Given the description of an element on the screen output the (x, y) to click on. 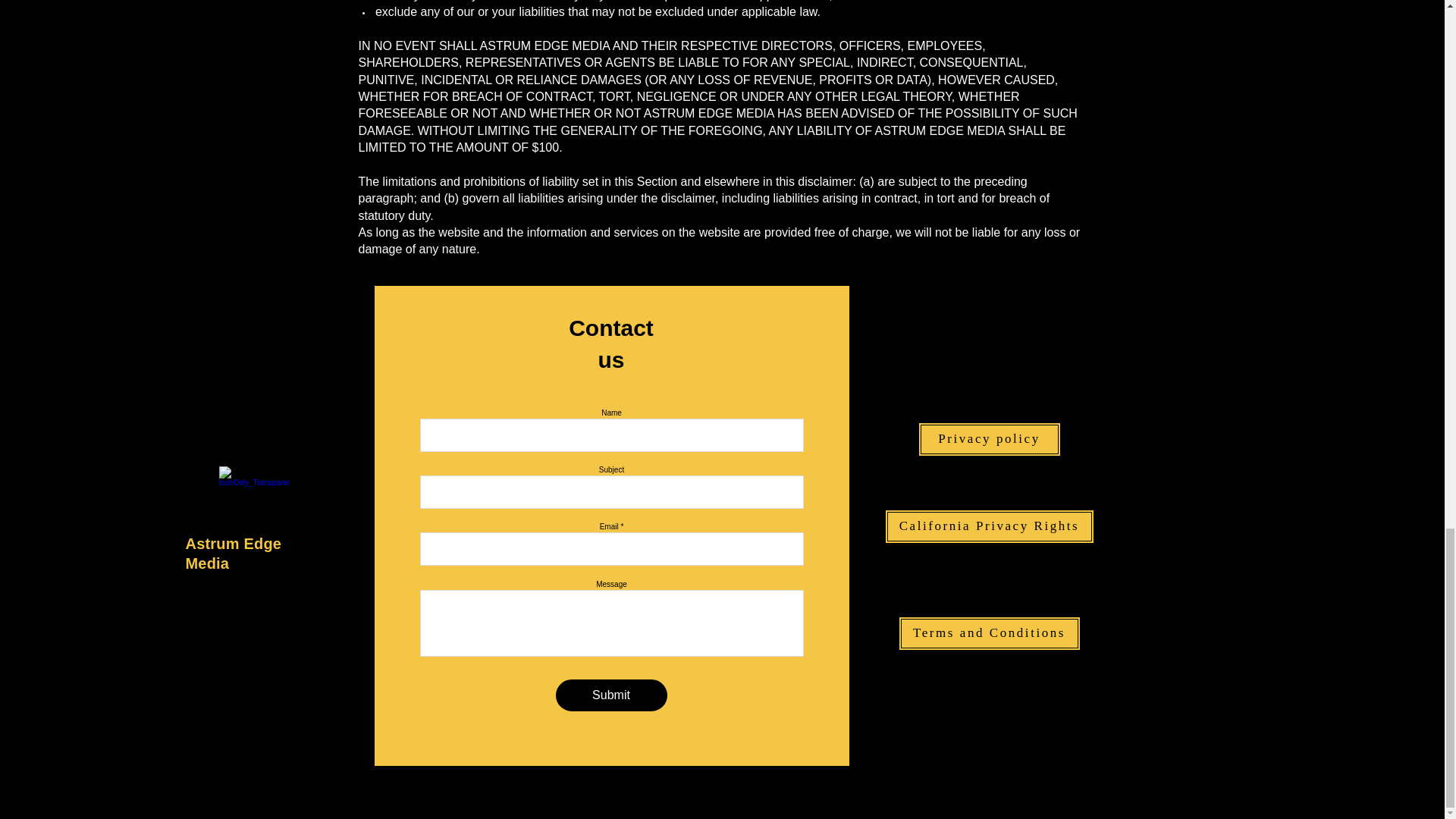
Terms and Conditions (989, 633)
Privacy policy (988, 439)
Submit (610, 695)
California Privacy Rights (988, 526)
